Given the description of an element on the screen output the (x, y) to click on. 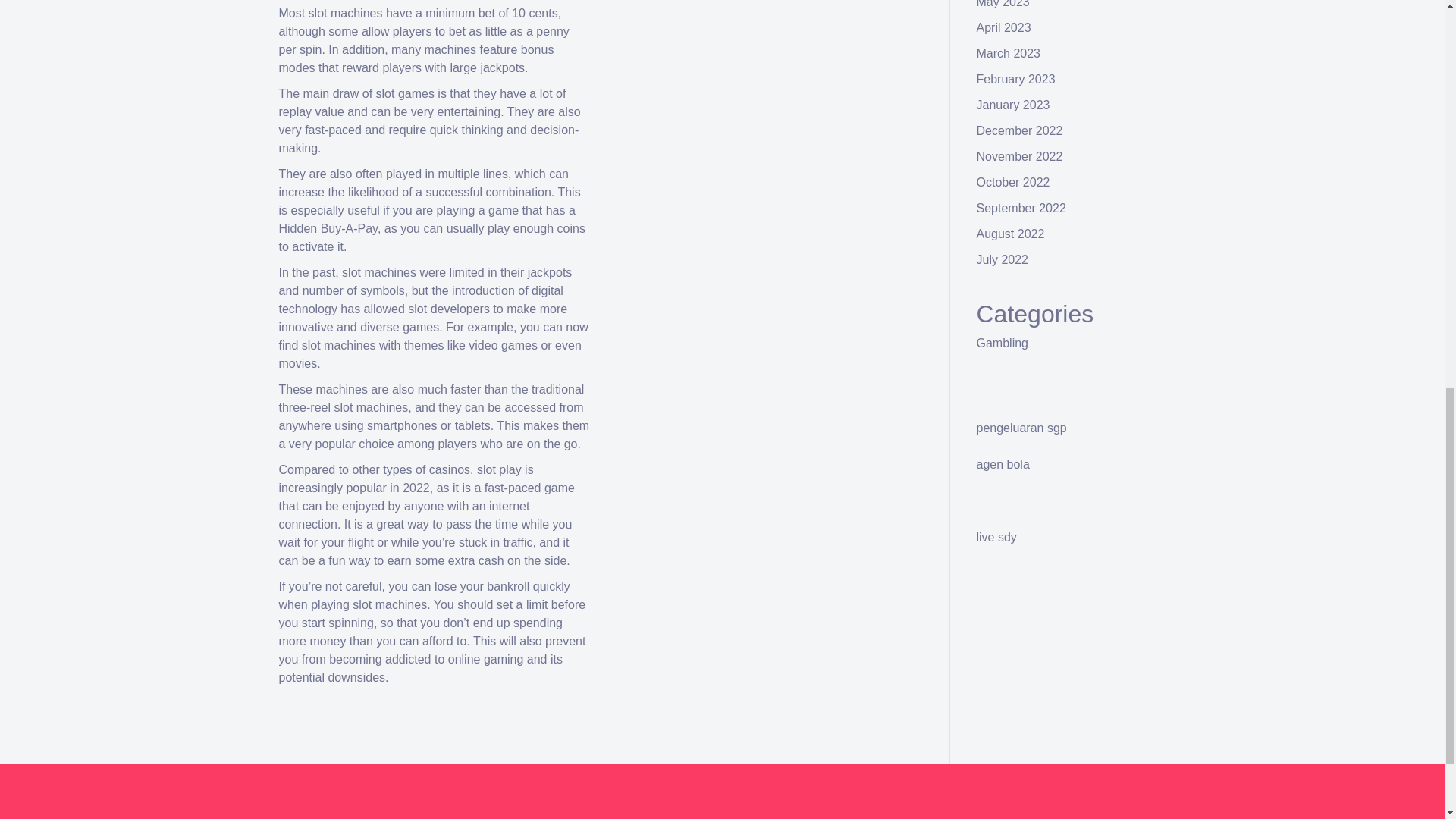
March 2023 (1008, 52)
April 2023 (1003, 27)
September 2022 (1020, 207)
February 2023 (1015, 78)
July 2022 (1002, 259)
November 2022 (1019, 155)
May 2023 (1002, 4)
January 2023 (1012, 104)
August 2022 (1010, 233)
December 2022 (1019, 130)
Gambling (1001, 342)
pengeluaran sgp (1021, 427)
October 2022 (1012, 182)
